Given the description of an element on the screen output the (x, y) to click on. 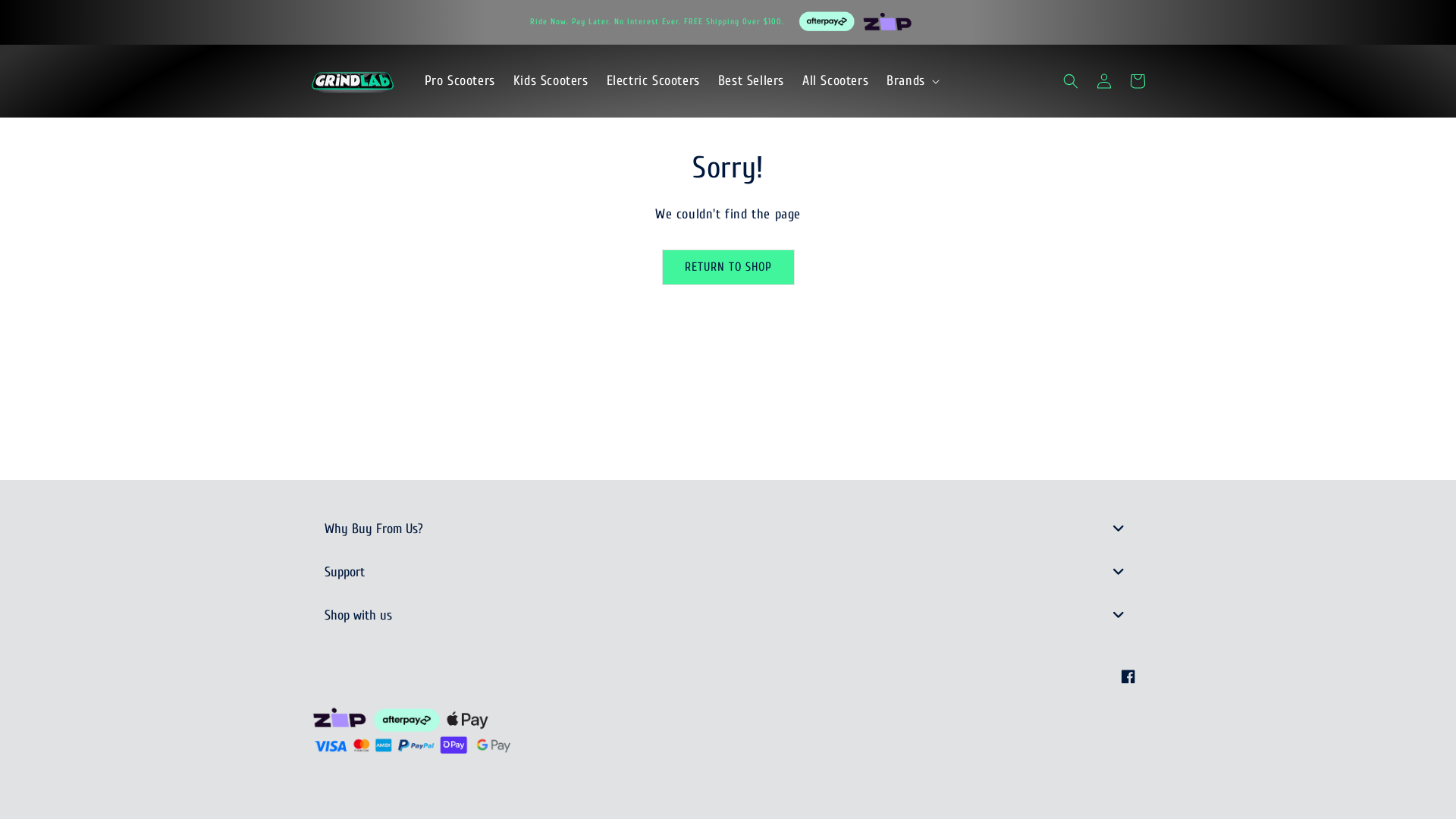
Facebook Element type: text (1128, 676)
Electric Scooters Element type: text (653, 80)
Cart Element type: text (1137, 80)
RETURN TO SHOP Element type: text (727, 267)
Support Element type: text (727, 571)
Pro Scooters Element type: text (459, 80)
All Scooters Element type: text (835, 80)
Best Sellers Element type: text (751, 80)
Shop with us Element type: text (727, 615)
Why Buy From Us? Element type: text (727, 528)
Log in Element type: text (1103, 80)
Kids Scooters Element type: text (550, 80)
